Given the description of an element on the screen output the (x, y) to click on. 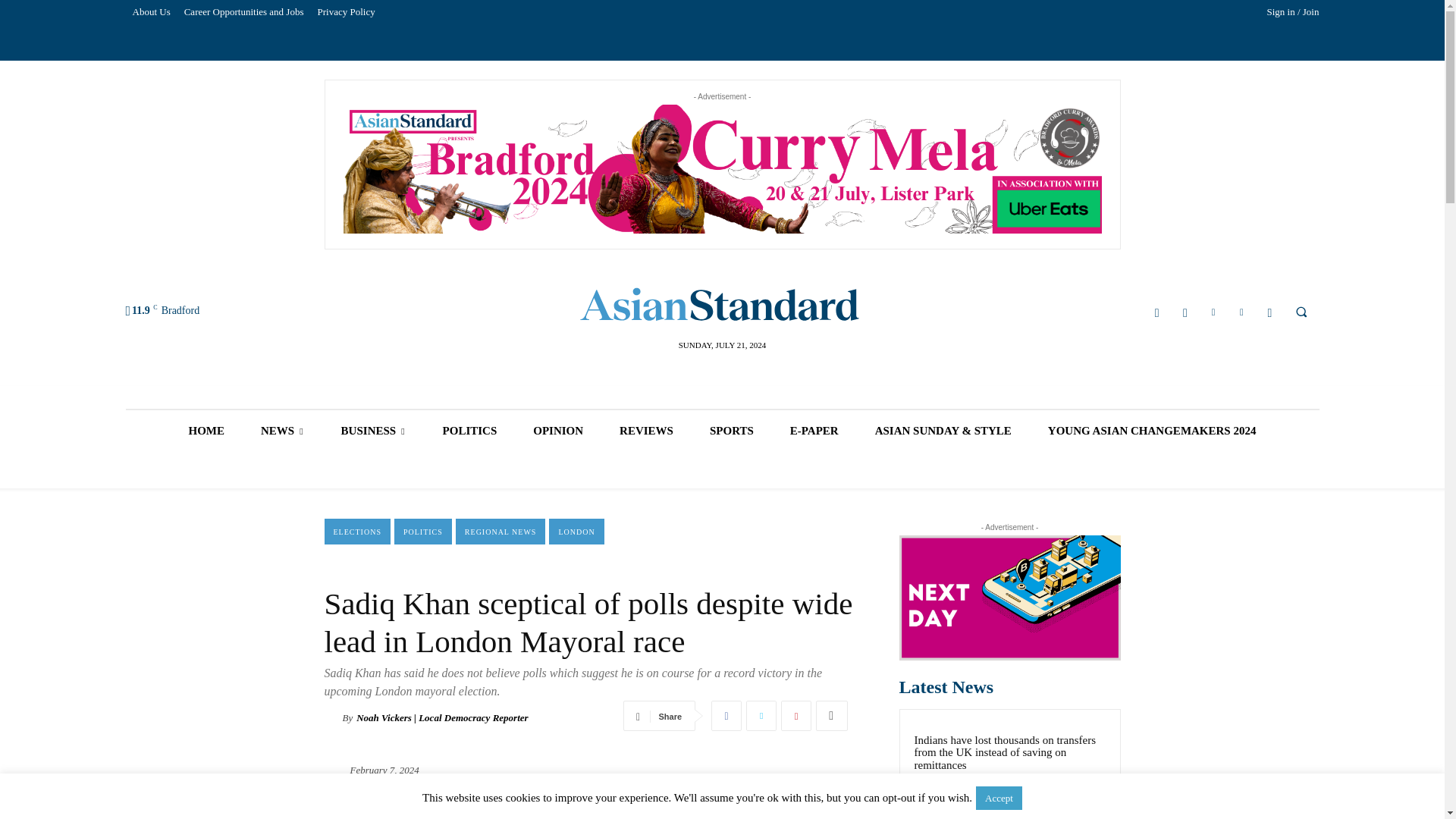
Facebook (726, 716)
Twitter (760, 716)
Career Opportunities and Jobs (244, 12)
Linkedin (1214, 312)
More (831, 716)
About Us (151, 12)
Youtube (1269, 312)
Facebook (1157, 312)
Privacy Policy (345, 12)
Pinterest (795, 716)
Twitter (1241, 312)
Instagram (1184, 312)
